Given the description of an element on the screen output the (x, y) to click on. 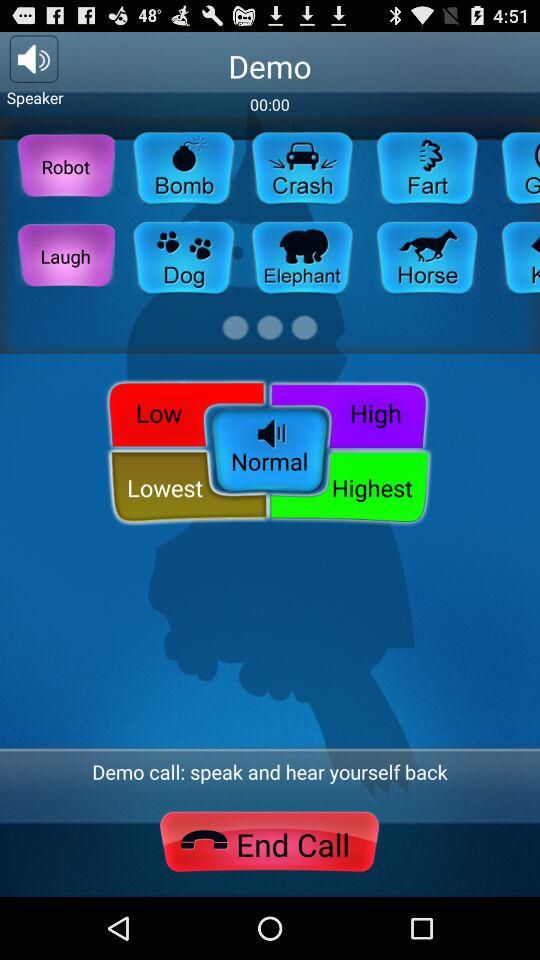
jump to robot button (65, 166)
